Given the description of an element on the screen output the (x, y) to click on. 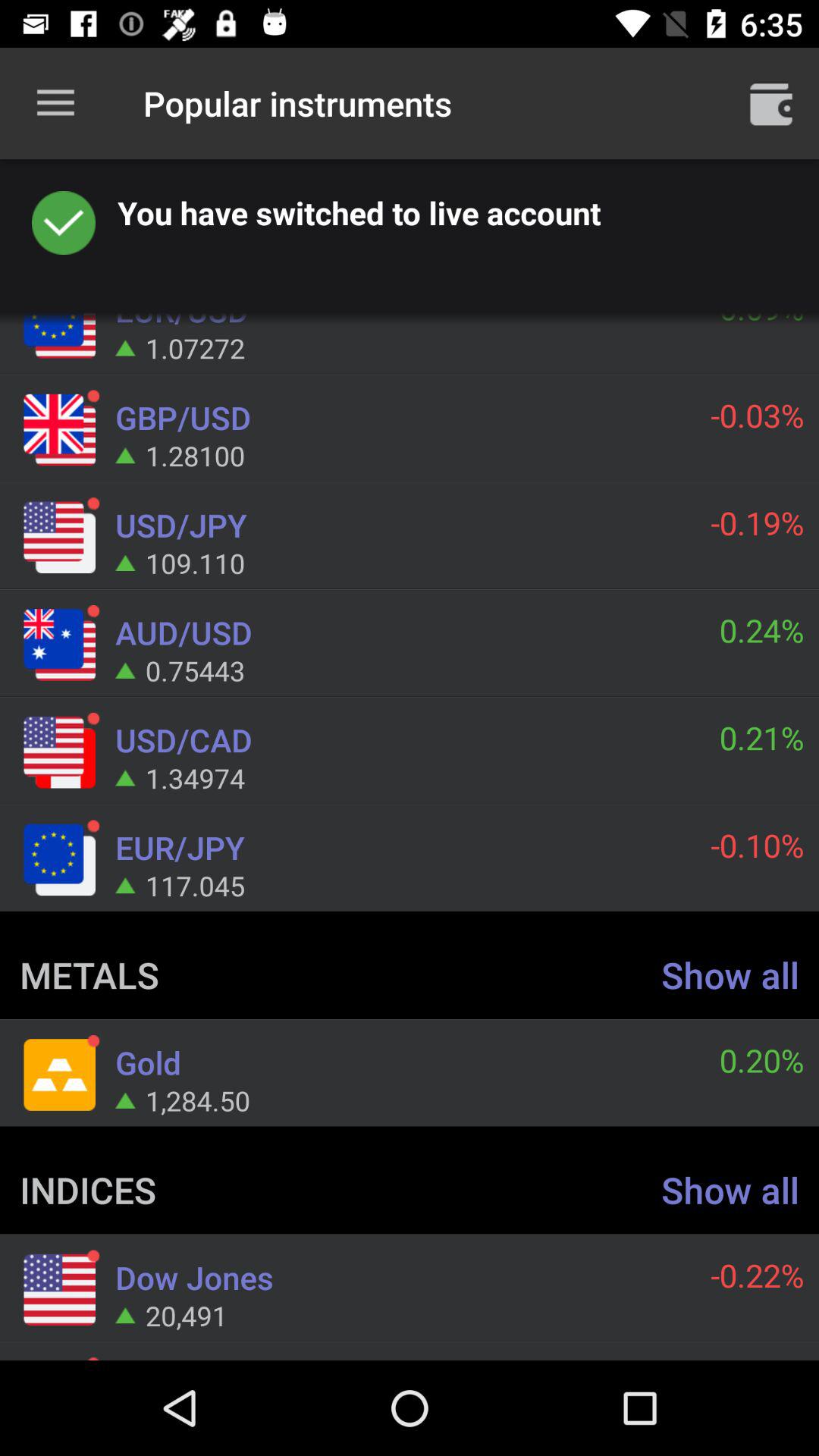
other instruments (771, 103)
